Given the description of an element on the screen output the (x, y) to click on. 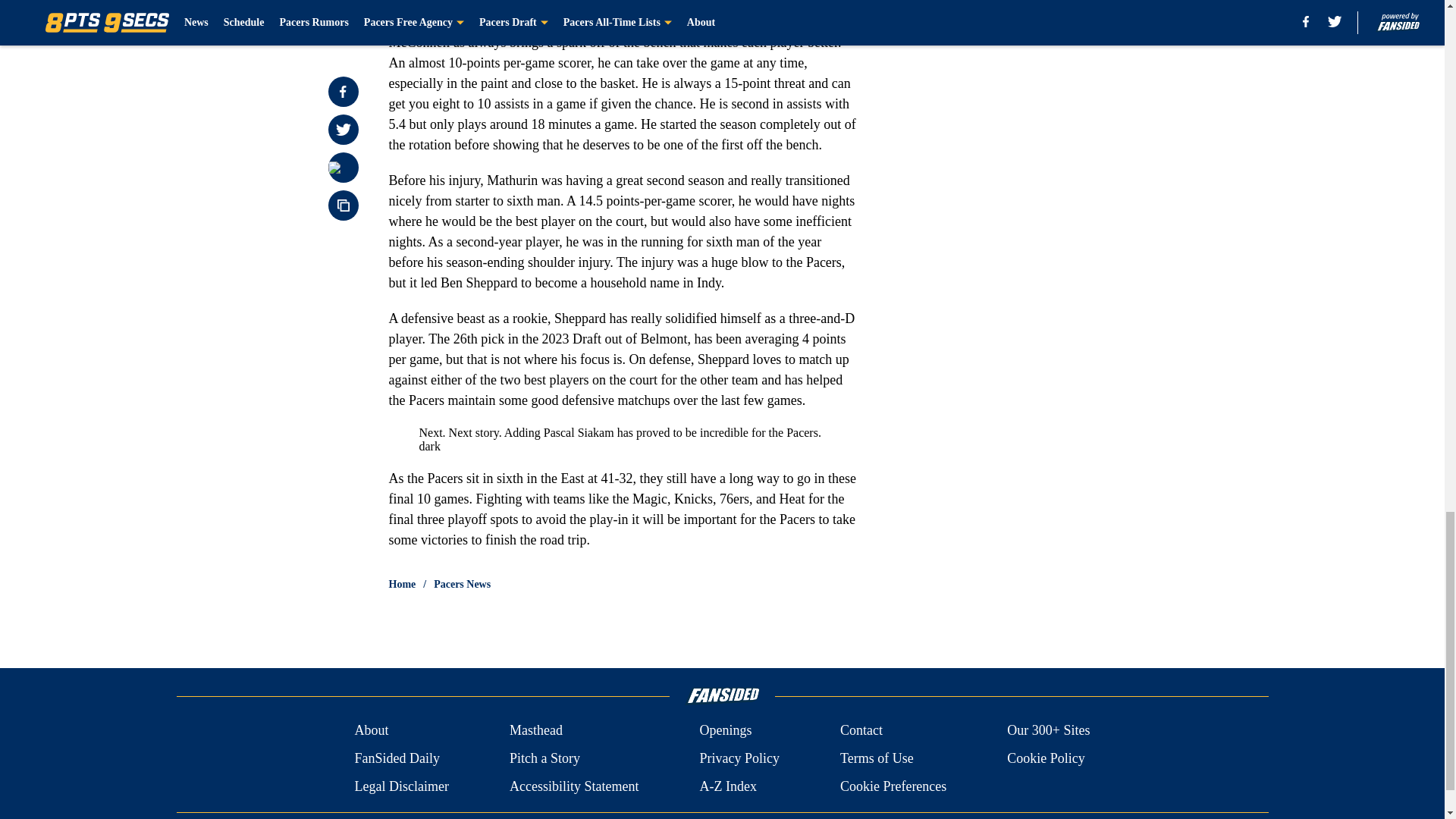
Terms of Use (877, 758)
Cookie Policy (1045, 758)
Accessibility Statement (574, 786)
Privacy Policy (738, 758)
Home (401, 584)
Masthead (535, 730)
About (370, 730)
Openings (724, 730)
Pitch a Story (544, 758)
Cookie Preferences (893, 786)
FanSided Daily (396, 758)
A-Z Index (726, 786)
Legal Disclaimer (400, 786)
Pacers News (461, 584)
Contact (861, 730)
